Given the description of an element on the screen output the (x, y) to click on. 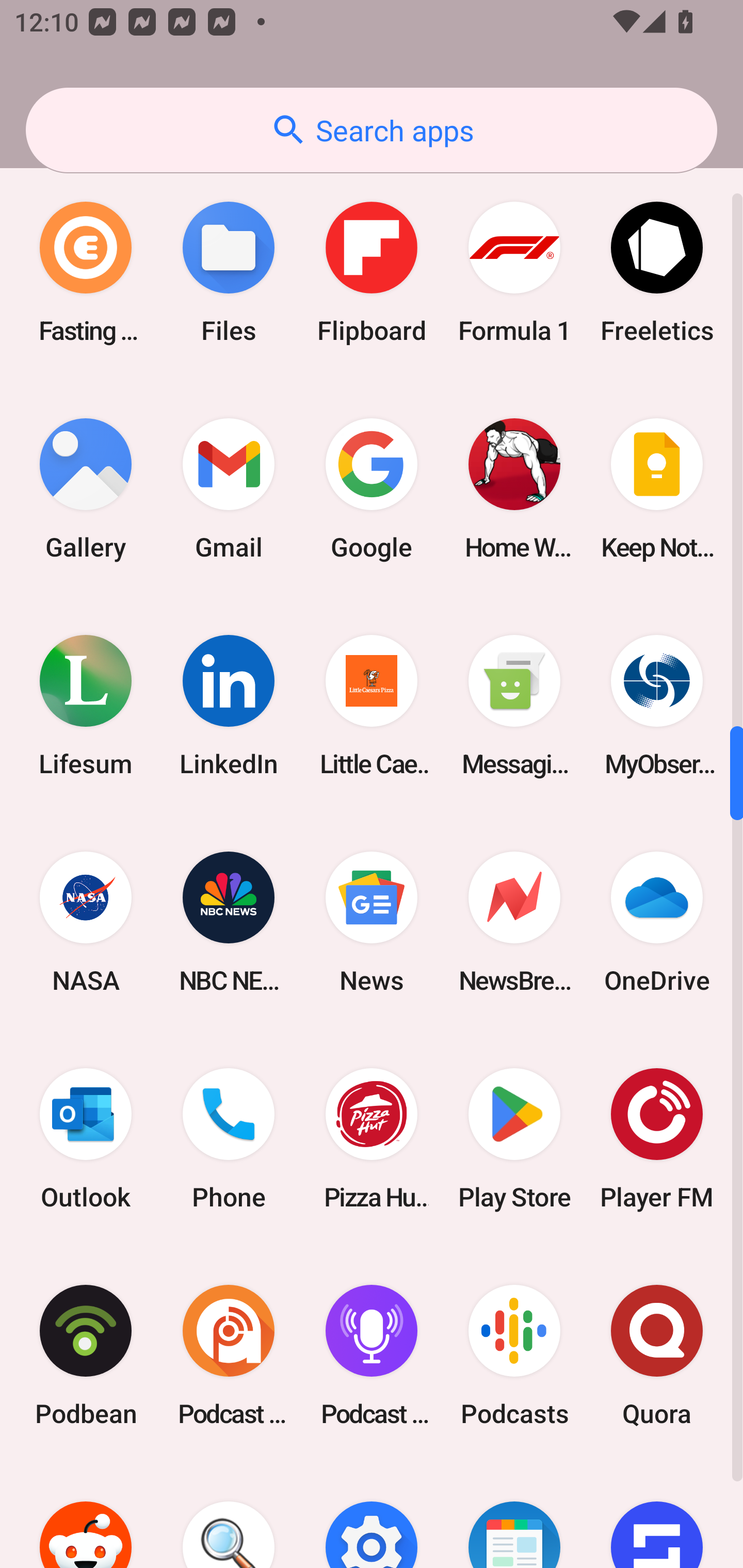
  Search apps (371, 130)
Fasting Coach (85, 272)
Files (228, 272)
Flipboard (371, 272)
Formula 1 (514, 272)
Freeletics (656, 272)
Gallery (85, 489)
Gmail (228, 489)
Google (371, 489)
Home Workout (514, 489)
Keep Notes (656, 489)
Lifesum (85, 705)
LinkedIn (228, 705)
Little Caesars Pizza (371, 705)
Messaging (514, 705)
MyObservatory (656, 705)
NASA (85, 921)
NBC NEWS (228, 921)
News (371, 921)
NewsBreak (514, 921)
OneDrive (656, 921)
Outlook (85, 1138)
Phone (228, 1138)
Pizza Hut HK & Macau (371, 1138)
Play Store (514, 1138)
Player FM (656, 1138)
Podbean (85, 1355)
Podcast Addict (228, 1355)
Podcast Player (371, 1355)
Podcasts (514, 1355)
Quora (656, 1355)
Reddit (85, 1516)
Search (228, 1516)
Settings (371, 1516)
SmartNews (514, 1516)
Sofascore (656, 1516)
